Given the description of an element on the screen output the (x, y) to click on. 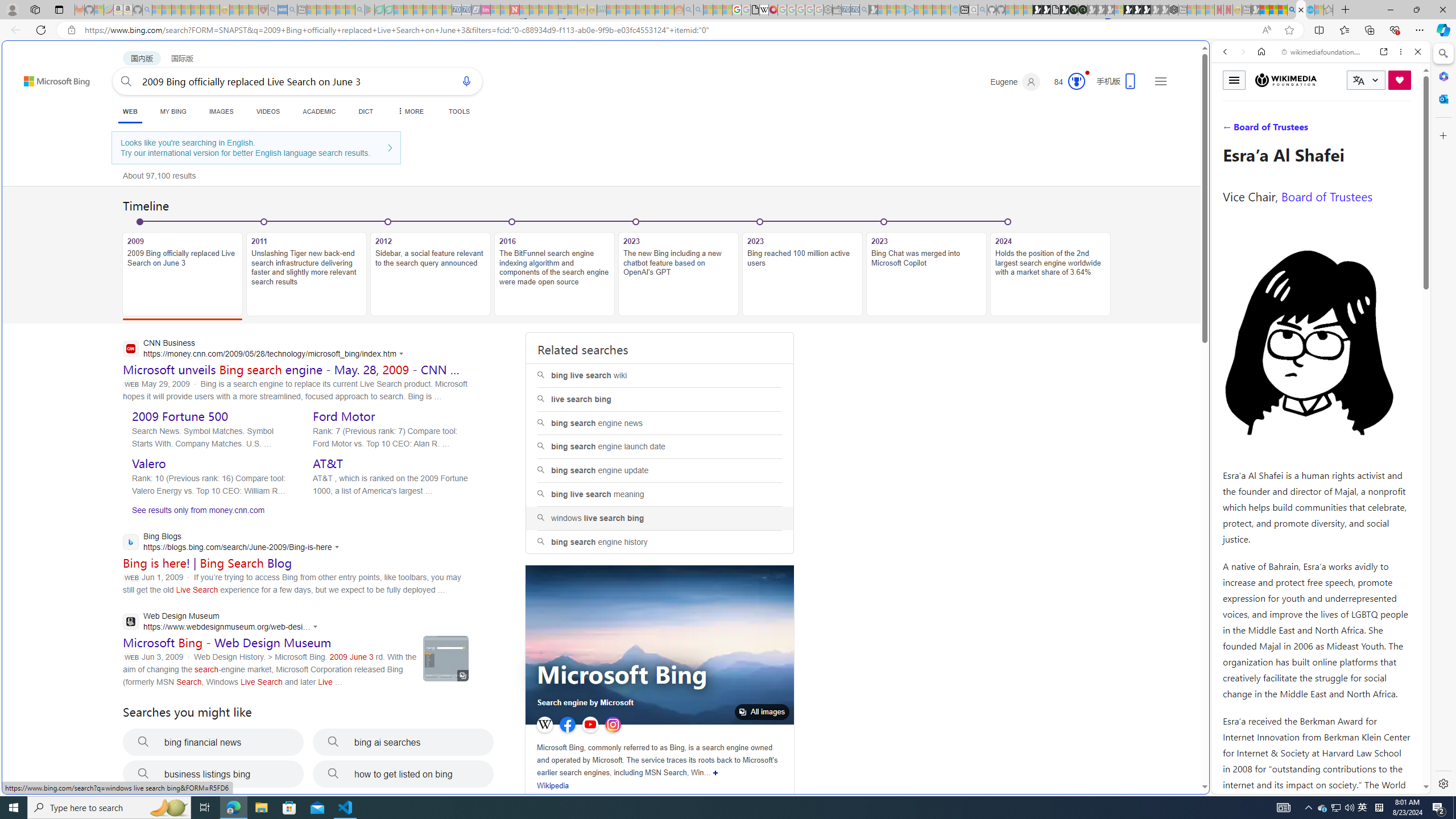
github - Search - Sleeping (981, 9)
WEB   (1230, 130)
google - Search - Sleeping (359, 9)
Search Filter, WEB (1230, 129)
Forward (1242, 51)
Wiktionary (1315, 380)
